Given the description of an element on the screen output the (x, y) to click on. 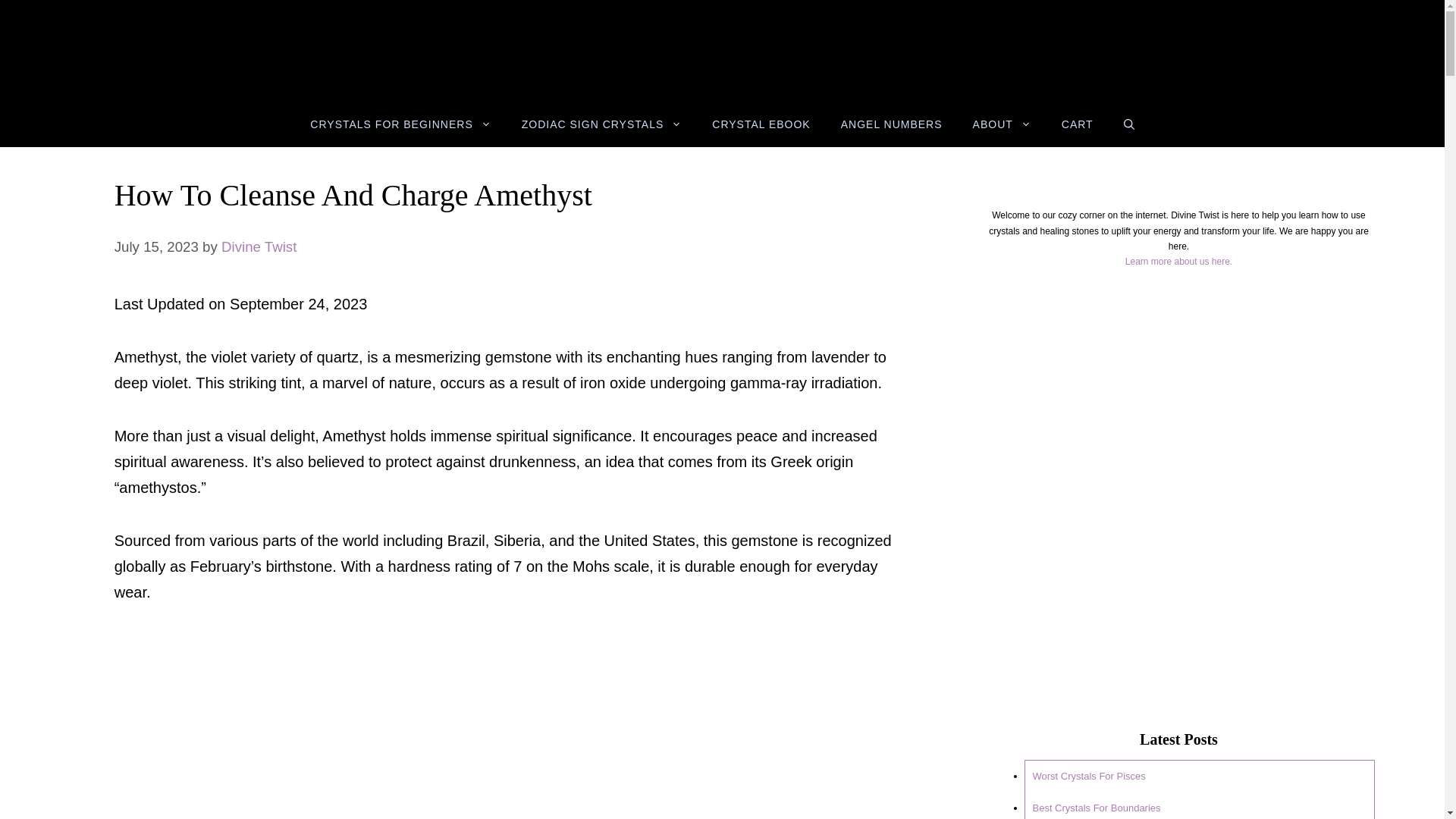
ANGEL NUMBERS (891, 124)
CRYSTALS FOR BEGINNERS (400, 124)
CRYSTAL EBOOK (761, 124)
Divine Twist (259, 246)
ZODIAC SIGN CRYSTALS (601, 124)
ABOUT (1002, 124)
CART (1077, 124)
View all posts by Divine Twist (259, 246)
